Given the description of an element on the screen output the (x, y) to click on. 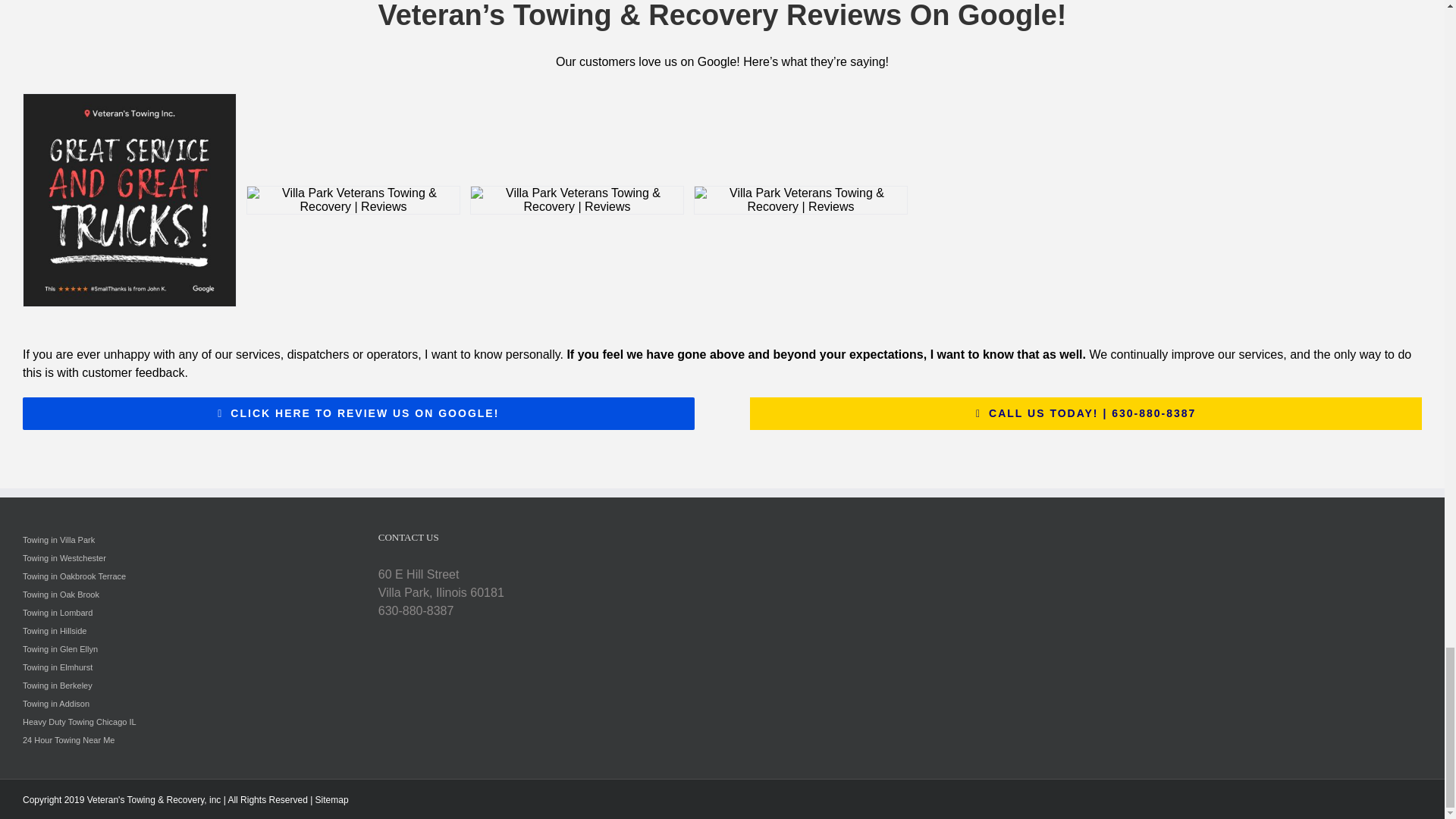
Towing in Westchester (64, 557)
Towing in Oakbrook Terrace (74, 575)
Towing in Addison (55, 703)
24 Hour Towing Near Me (69, 739)
Towing in Hillside (54, 630)
Towing in Glen Ellyn (60, 648)
Towing in Oak Brook (61, 593)
CLICK HERE TO REVIEW US ON GOOGLE! (358, 413)
Heavy Duty Towing Chicago IL (79, 721)
Towing in Berkeley (58, 685)
